Given the description of an element on the screen output the (x, y) to click on. 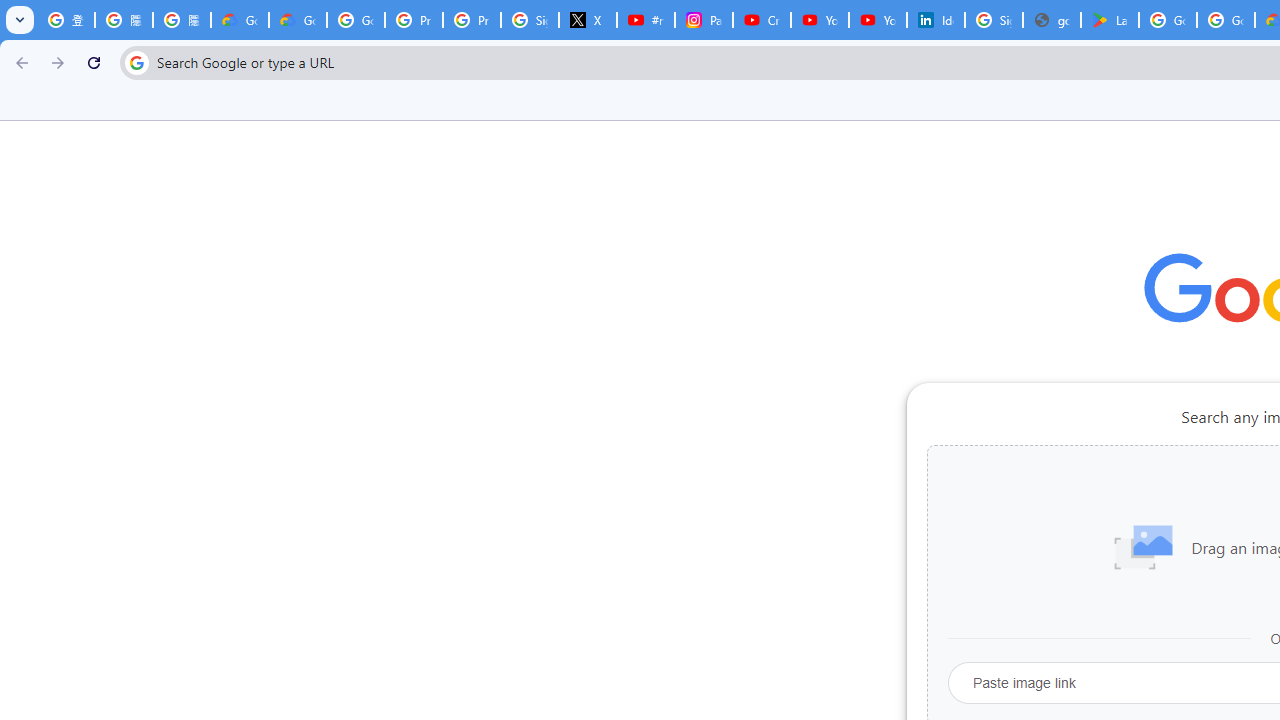
Last Shelter: Survival - Apps on Google Play (1110, 20)
#nbabasketballhighlights - YouTube (645, 20)
Google Cloud Privacy Notice (297, 20)
Google Workspace - Specific Terms (1225, 20)
YouTube Culture & Trends - YouTube Top 10, 2021 (877, 20)
